Given the description of an element on the screen output the (x, y) to click on. 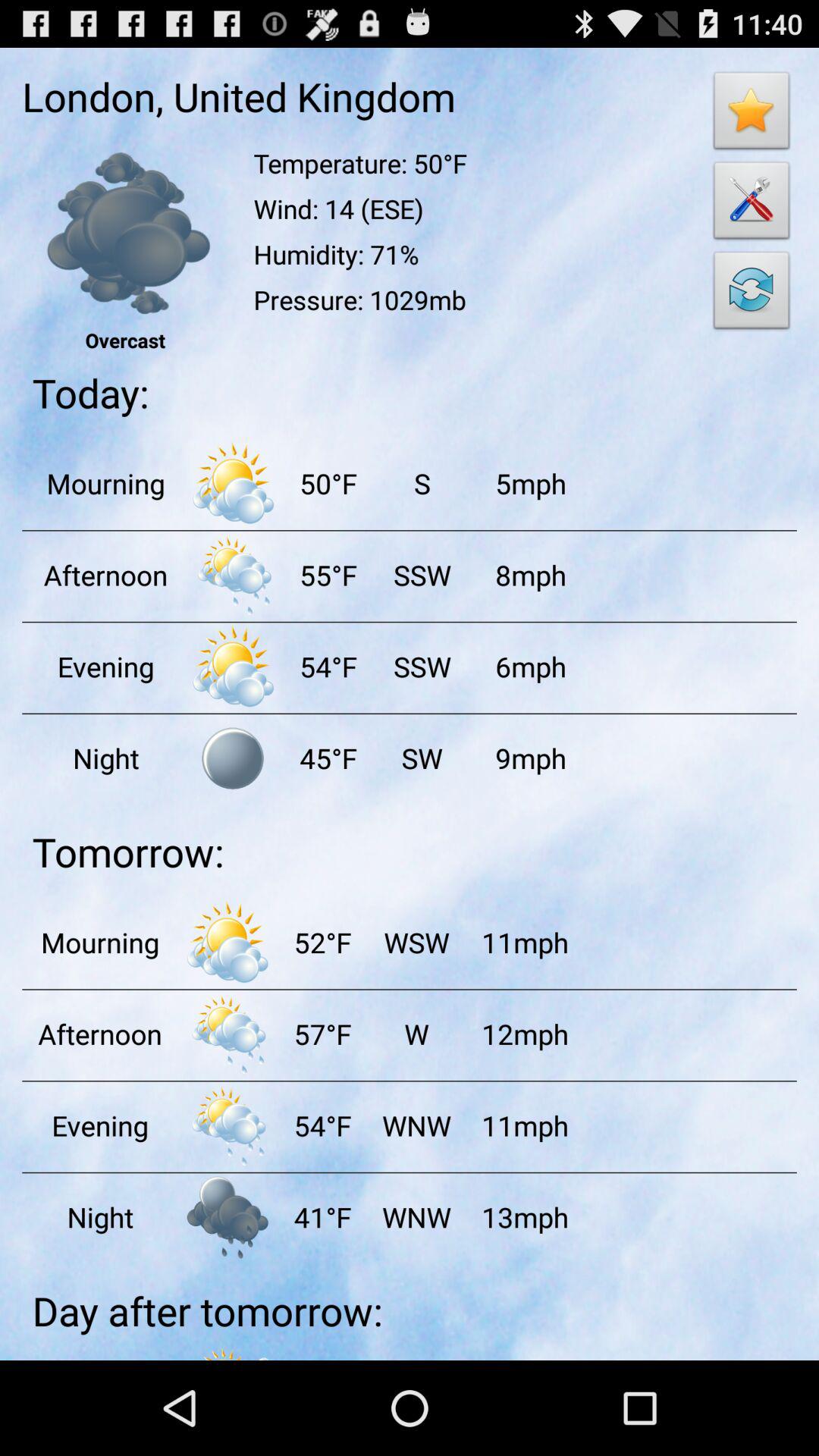
see the weather (232, 483)
